Given the description of an element on the screen output the (x, y) to click on. 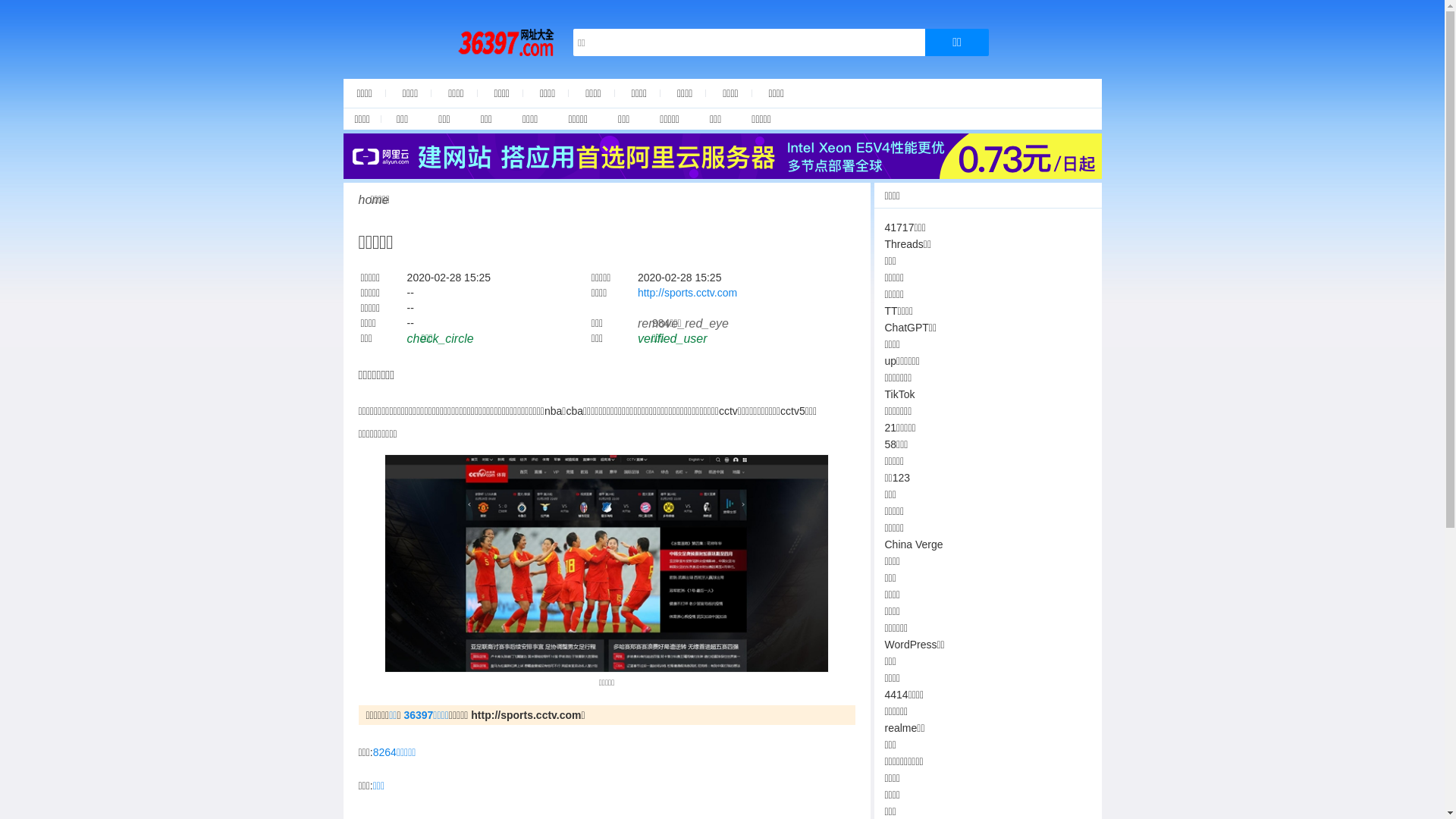
http://sports.cctv.com Element type: text (687, 292)
China Verge Element type: text (913, 544)
TikTok Element type: text (899, 394)
